Given the description of an element on the screen output the (x, y) to click on. 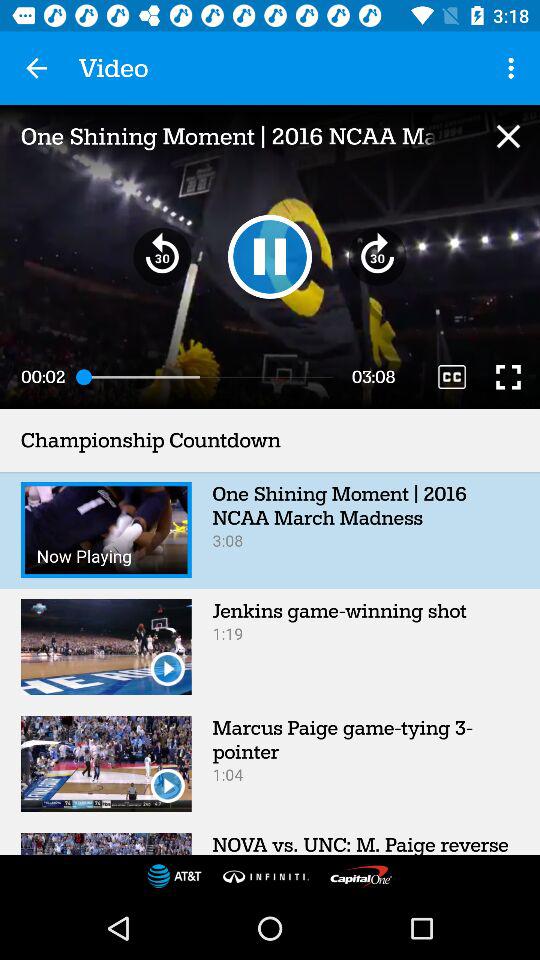
full screen (508, 376)
